Given the description of an element on the screen output the (x, y) to click on. 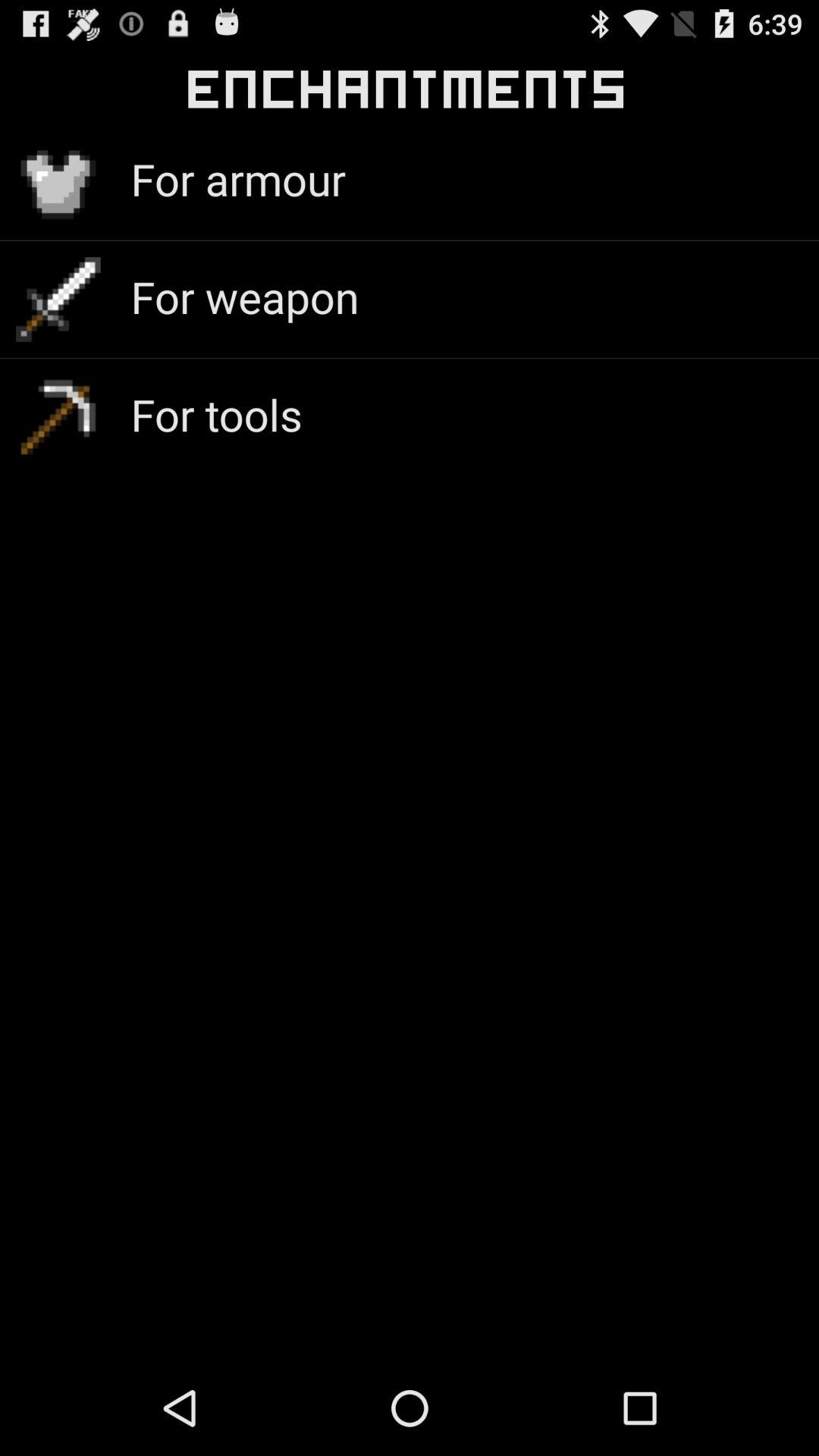
swipe to for weapon app (244, 296)
